Given the description of an element on the screen output the (x, y) to click on. 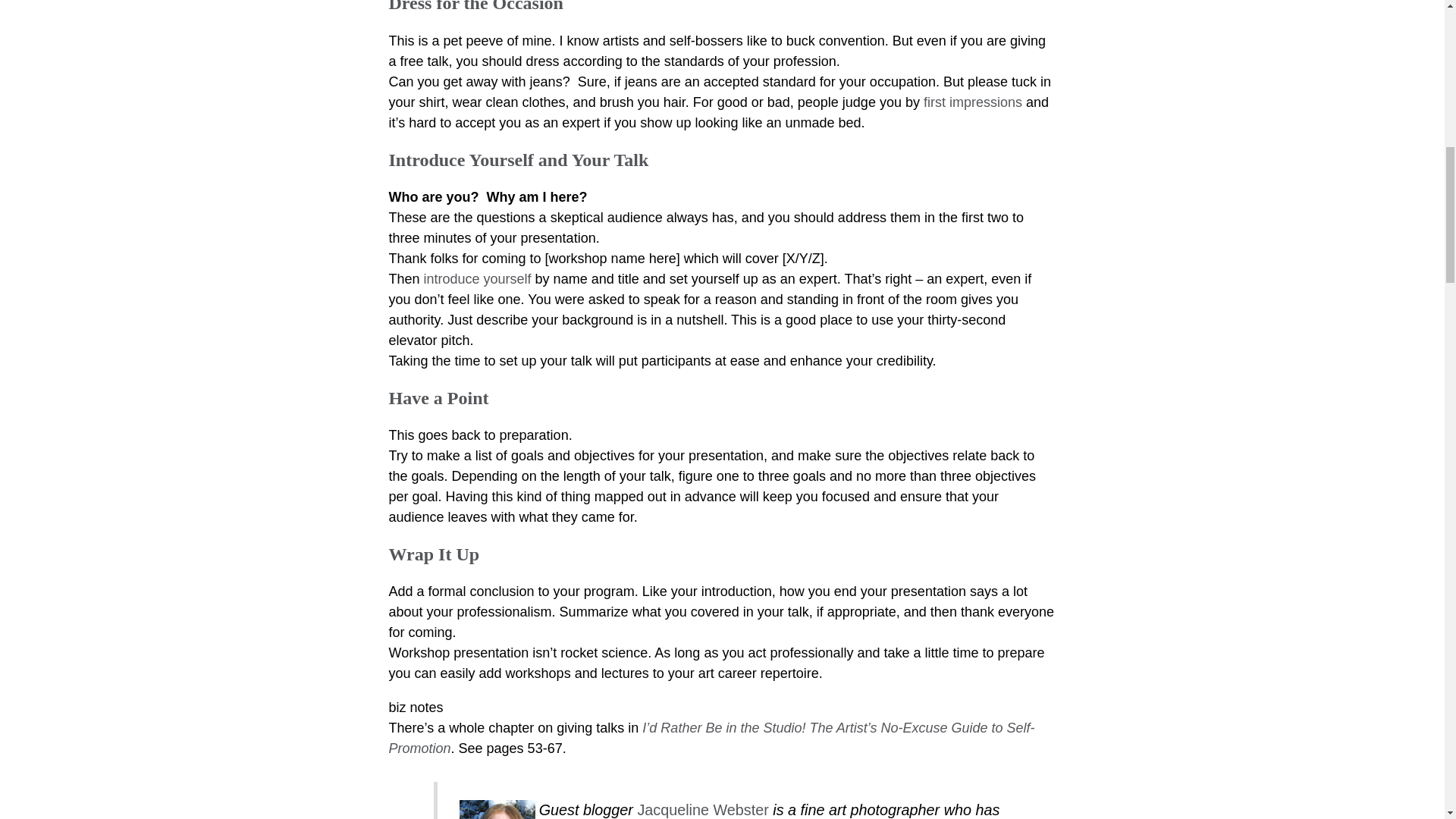
I'd Rather Be in the Studio! self-promotion book for artists (710, 737)
Introduce Yourself Politely (477, 278)
Jacqueline Webster (497, 809)
Jacqueline Webster (702, 808)
introduce yourself (477, 278)
Jacqueline Webster Photography (702, 808)
first impressions (972, 101)
Presentation is Everything: First Impressions (972, 101)
